Given the description of an element on the screen output the (x, y) to click on. 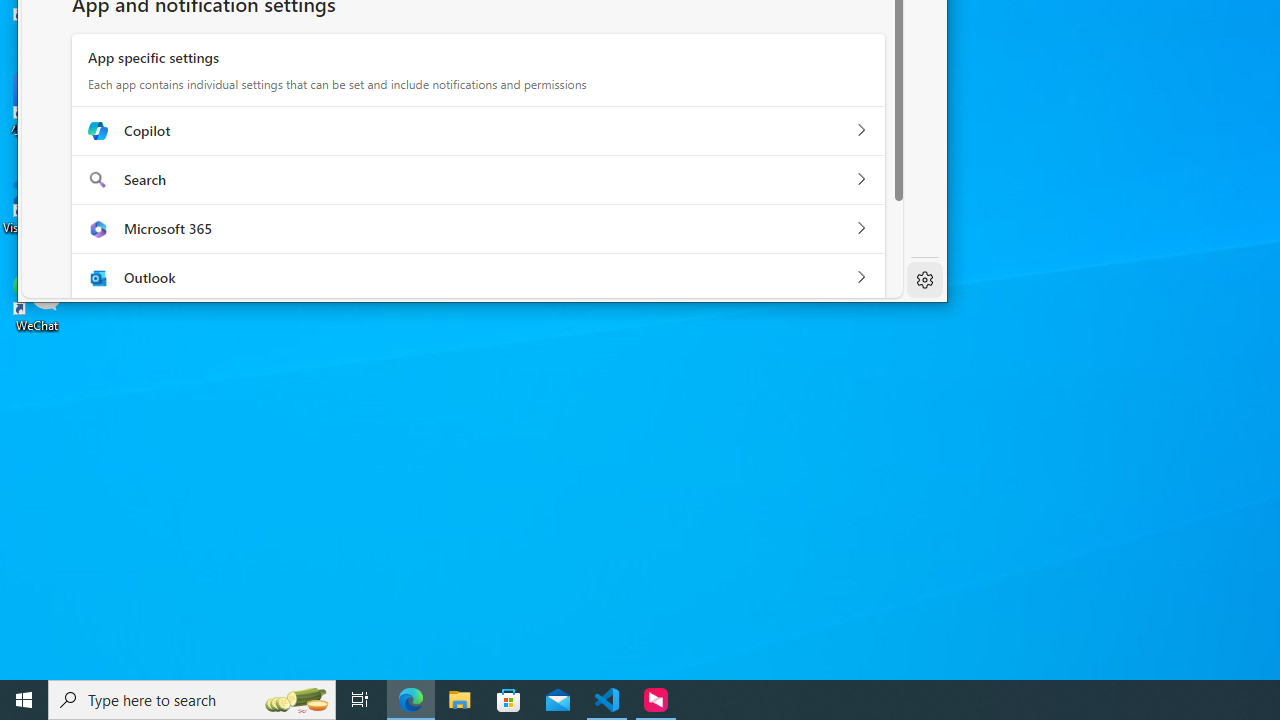
Microsoft Edge - 1 running window (411, 699)
Copilot (861, 131)
